Given the description of an element on the screen output the (x, y) to click on. 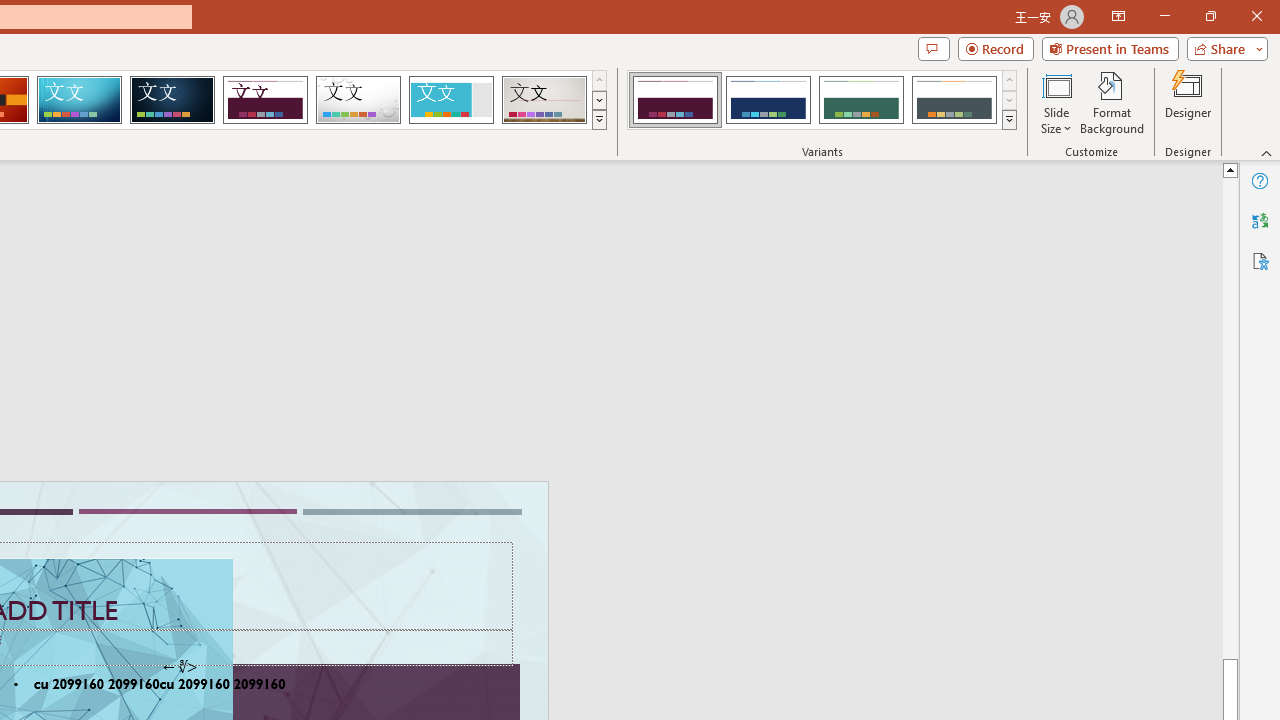
Dividend Variant 1 (674, 100)
Circuit (79, 100)
Variants (1009, 120)
Slide Size (1056, 102)
Dividend Variant 4 (953, 100)
Damask (171, 100)
